Given the description of an element on the screen output the (x, y) to click on. 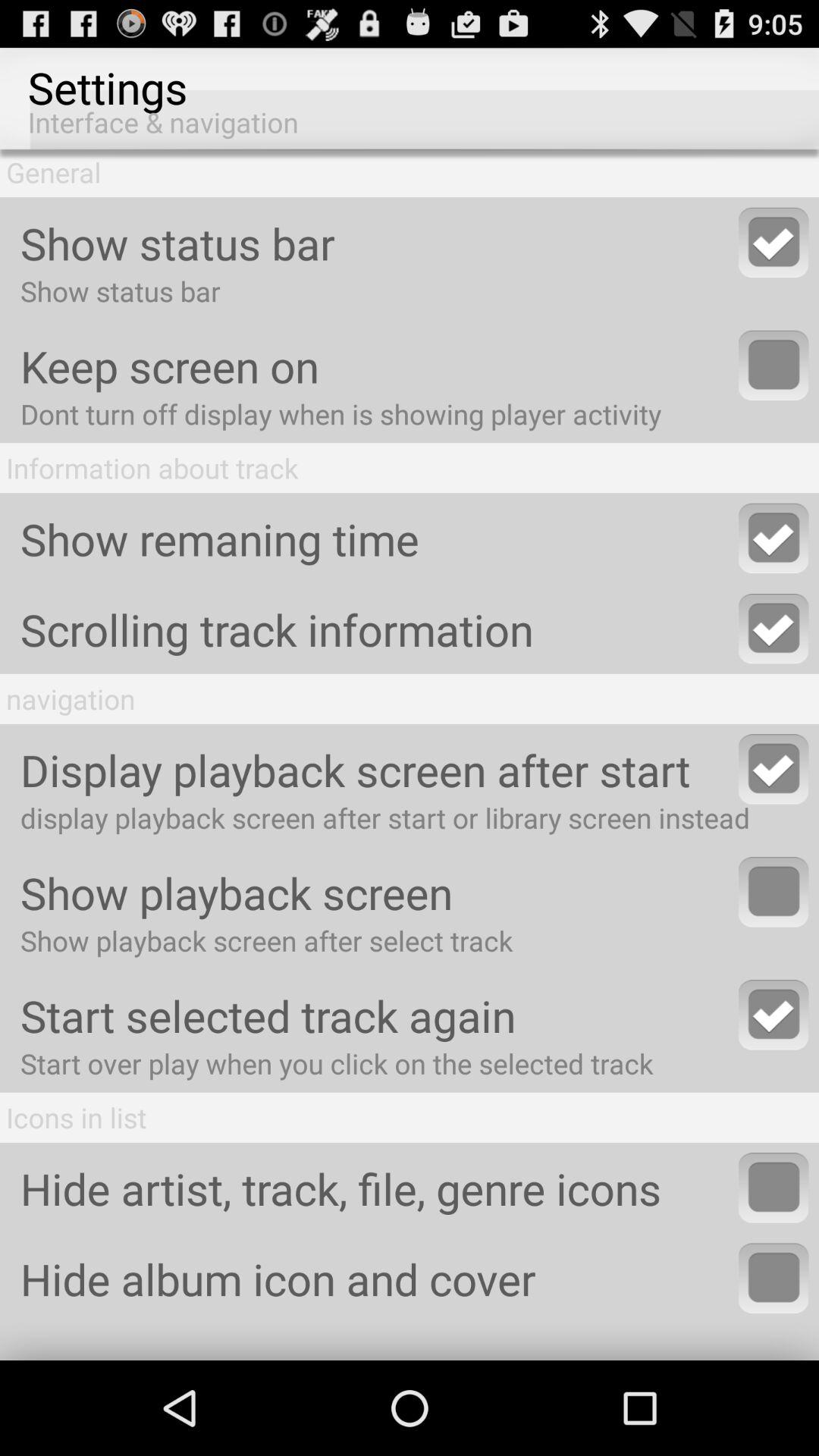
toggles whether or not display is on or off during player activity (773, 365)
